Given the description of an element on the screen output the (x, y) to click on. 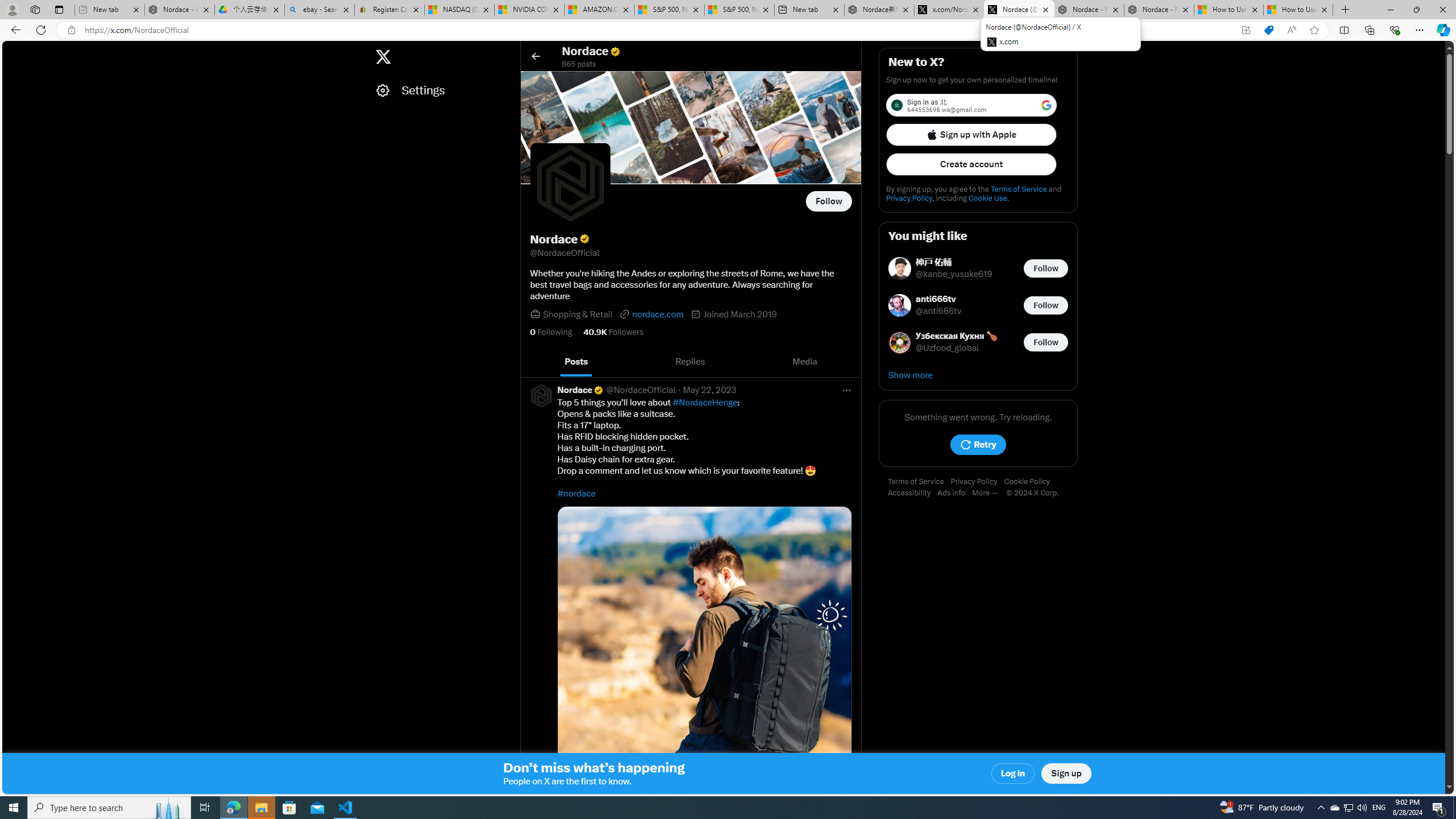
Cookie Policy (1030, 481)
Skip to home timeline (12, 50)
